Given the description of an element on the screen output the (x, y) to click on. 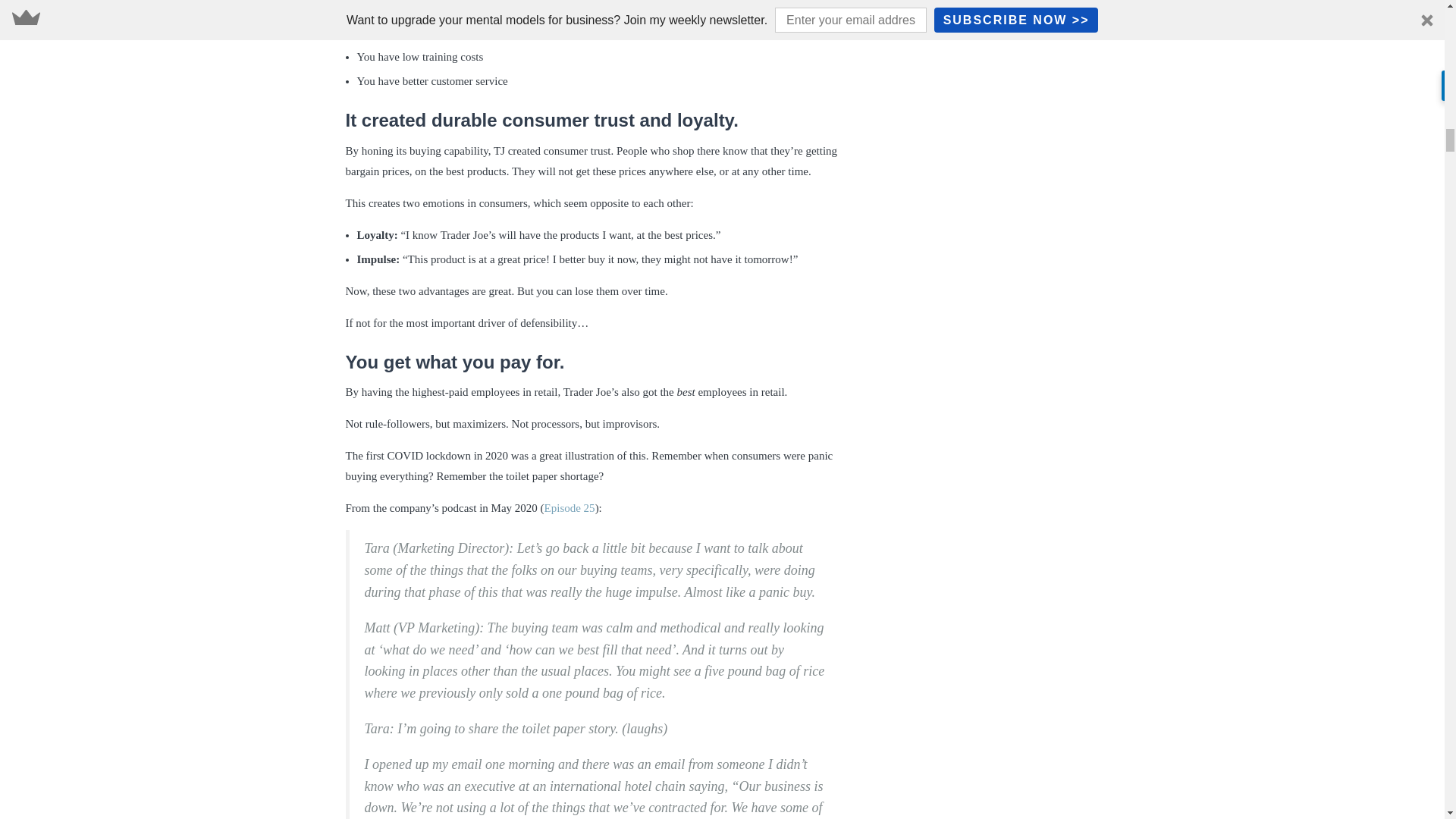
Episode 25 (569, 508)
